Given the description of an element on the screen output the (x, y) to click on. 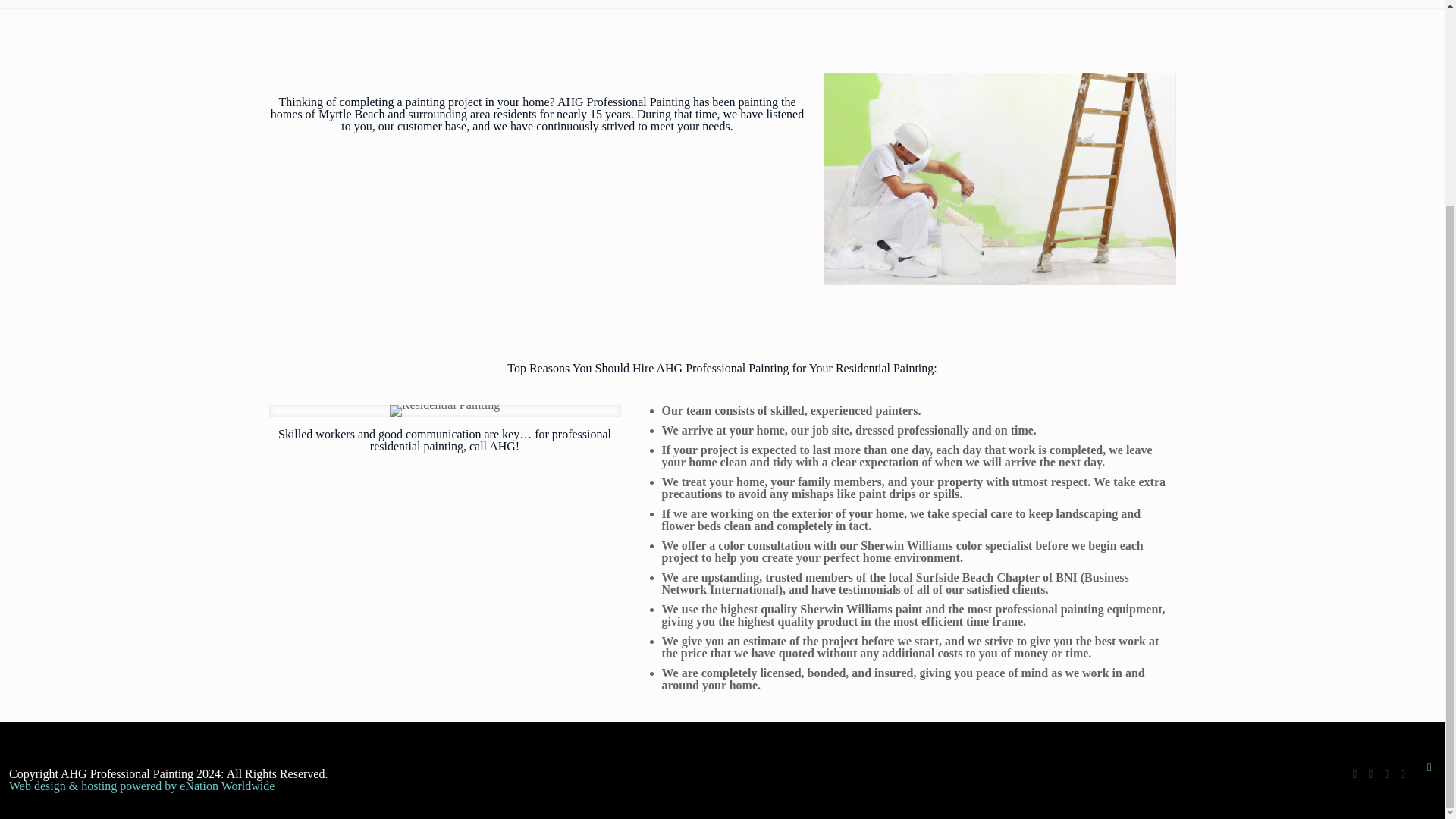
LinkedIn (1385, 774)
myrtle beach web designers enation worldwide (227, 785)
myrtle beach web design (93, 785)
YouTube (1370, 774)
Facebook (1354, 774)
Yelp (1401, 774)
eNation Worldwide (227, 785)
